Given the description of an element on the screen output the (x, y) to click on. 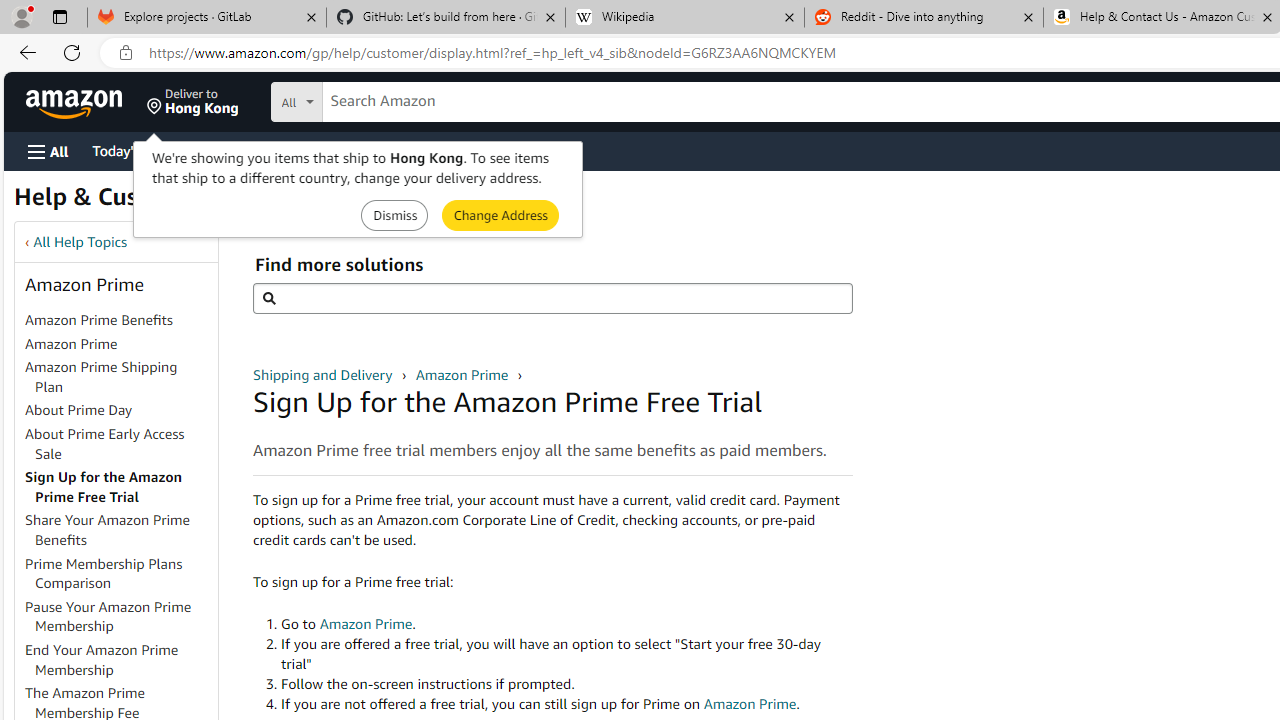
Open Menu (48, 151)
Registry (360, 150)
Amazon Prime Benefits (98, 320)
End Your Amazon Prime Membership (102, 659)
